Given the description of an element on the screen output the (x, y) to click on. 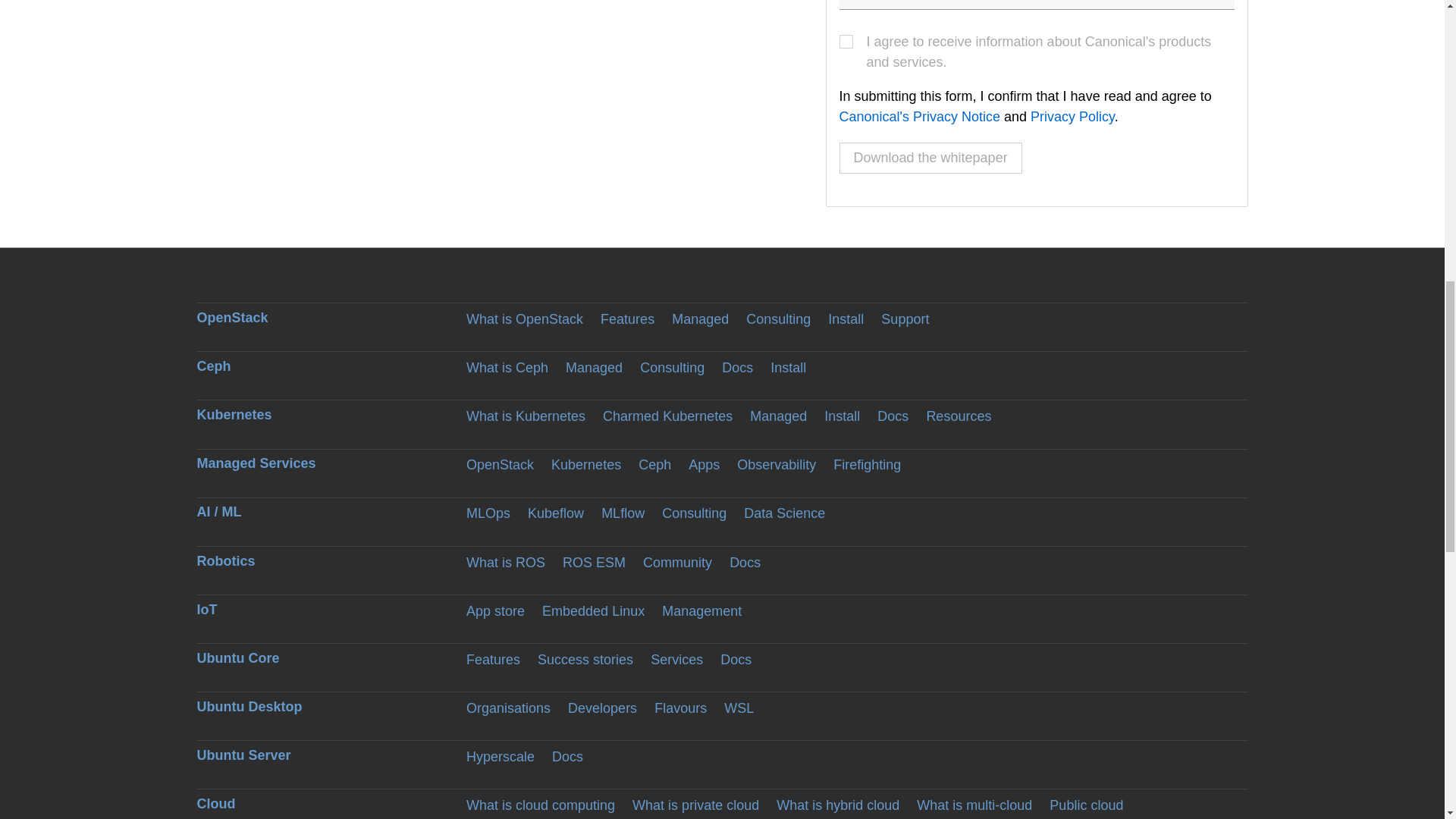
Features (626, 319)
Kubernetes (586, 464)
Managed (777, 416)
Kubernetes (234, 414)
Install (845, 319)
OpenStack (499, 464)
What is OpenStack (524, 319)
Managed (594, 367)
Apps (703, 464)
Managed Services (255, 462)
